Given the description of an element on the screen output the (x, y) to click on. 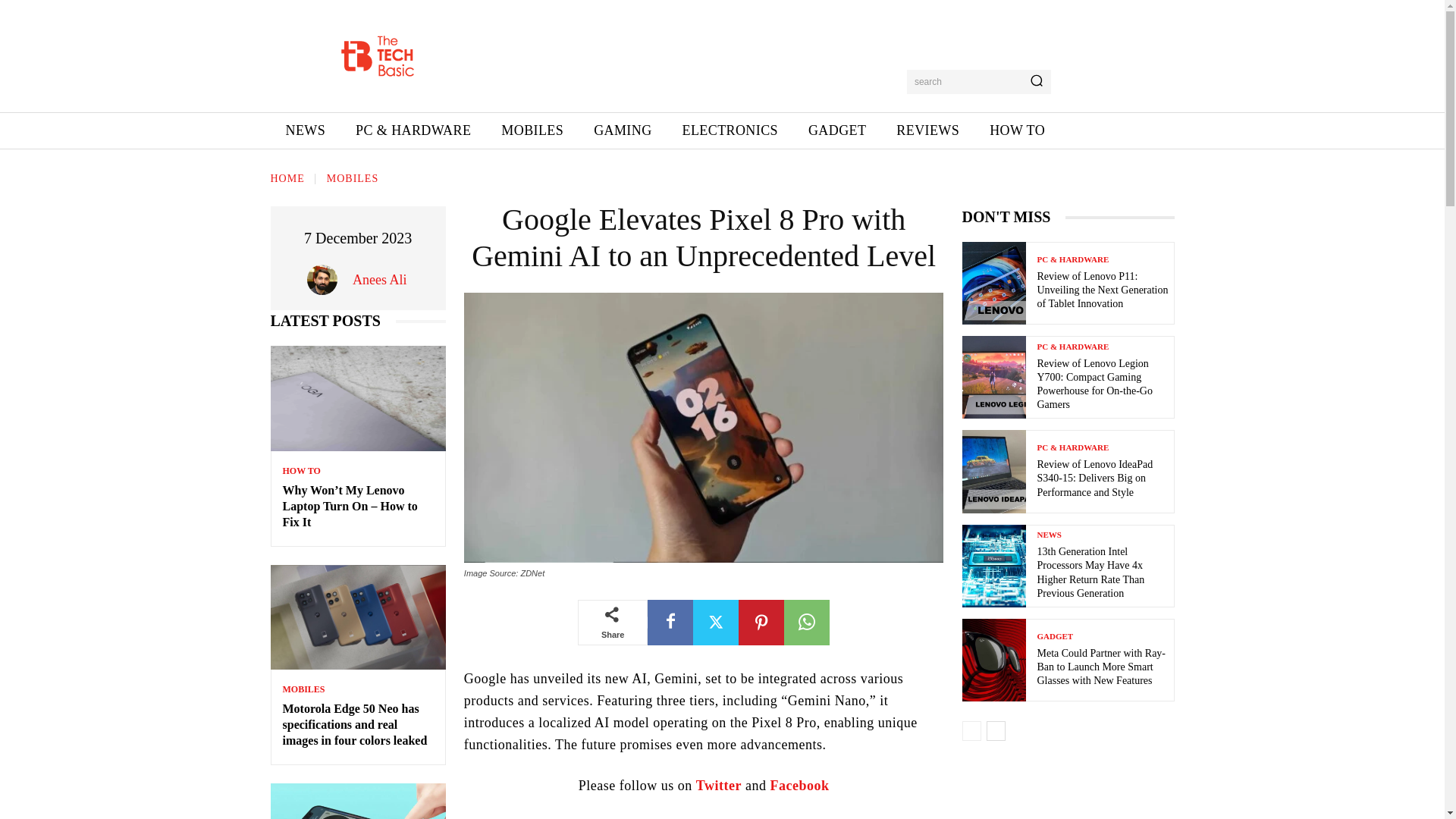
Anees Ali (326, 279)
MOBILES (352, 178)
MOBILES (303, 688)
HOME (286, 178)
HOW TO (1016, 130)
MOBILES (532, 130)
GADGET (836, 130)
